Given the description of an element on the screen output the (x, y) to click on. 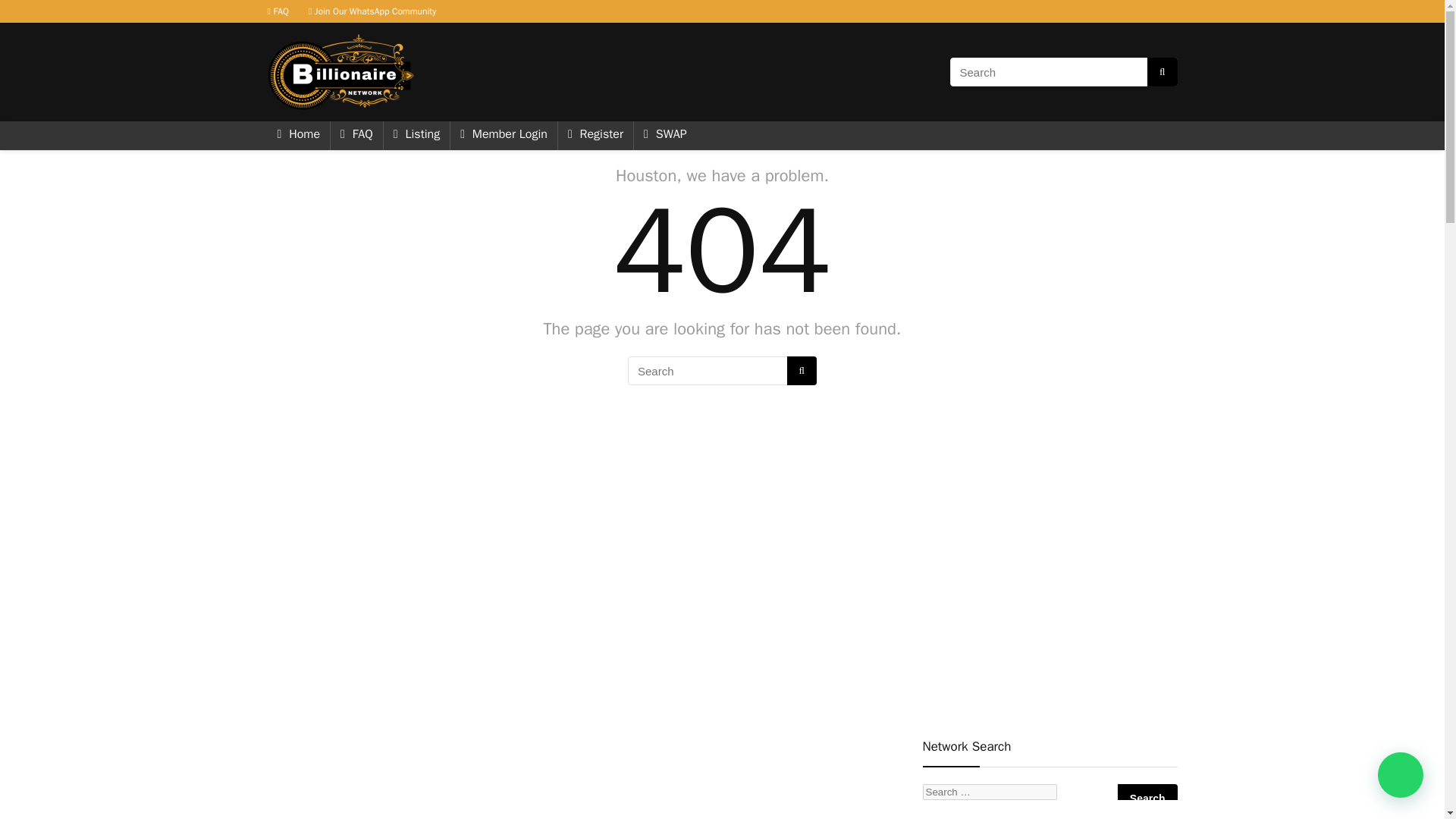
Search (1147, 798)
Search (1147, 798)
SWAP (665, 135)
FAQ (356, 135)
Listing (416, 135)
Search (1147, 798)
Join Our WhatsApp Community (371, 10)
Member Login (503, 135)
Register (595, 135)
Home (298, 135)
FAQ (277, 10)
